Given the description of an element on the screen output the (x, y) to click on. 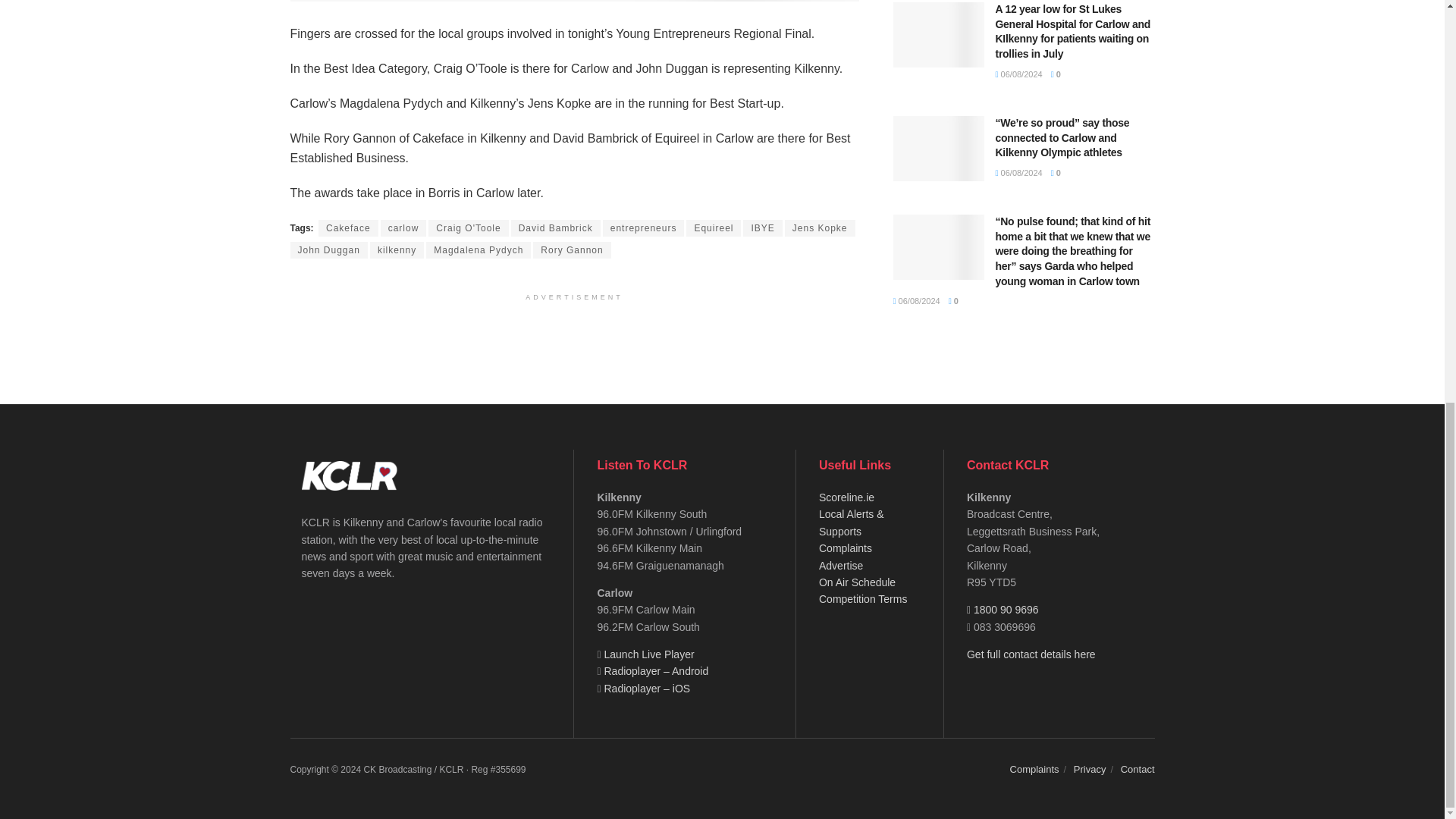
Listen to KCLR online (649, 654)
